Given the description of an element on the screen output the (x, y) to click on. 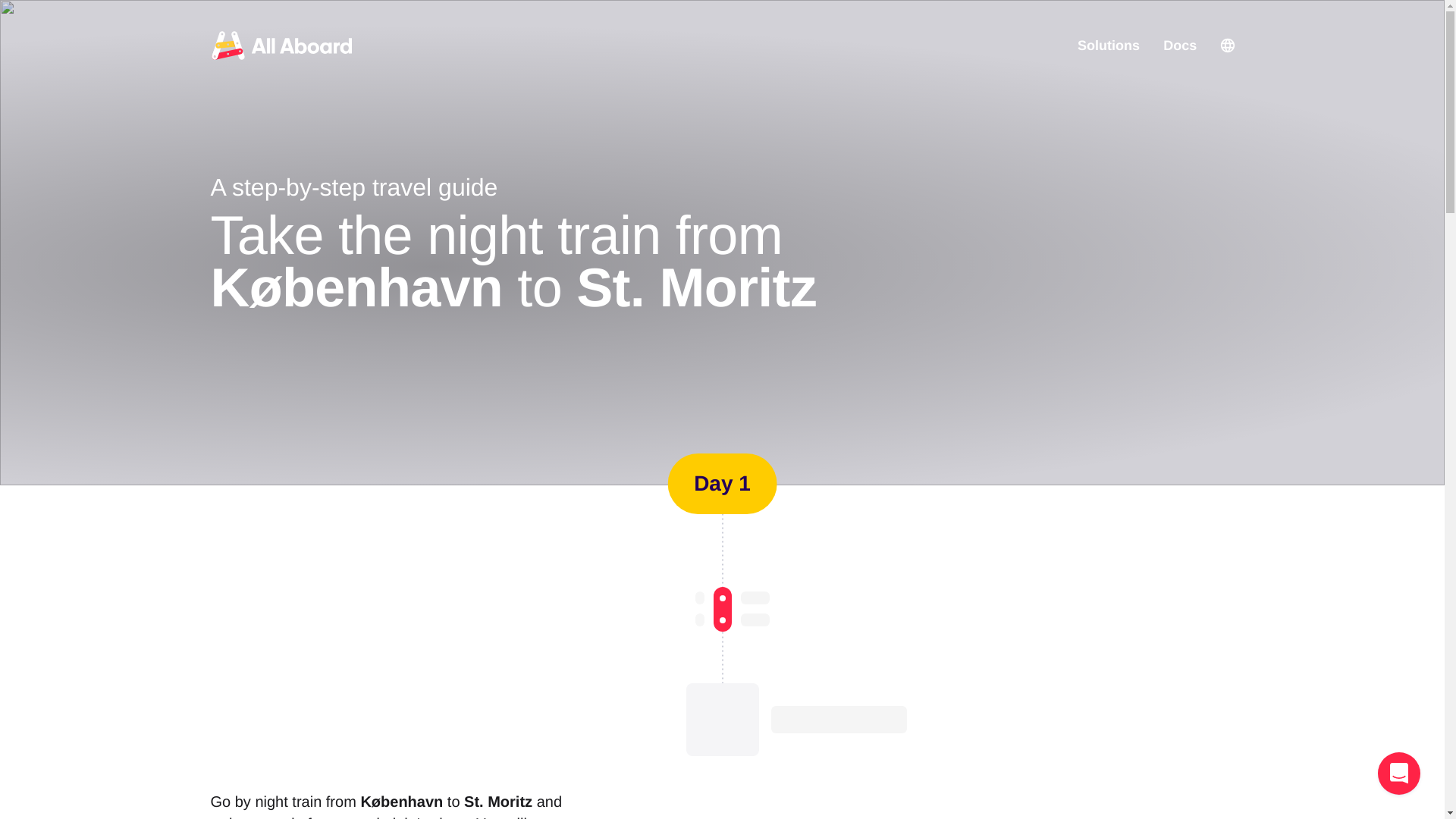
Solutions (1108, 45)
Docs (1179, 45)
Skift sprog (1227, 45)
